Given the description of an element on the screen output the (x, y) to click on. 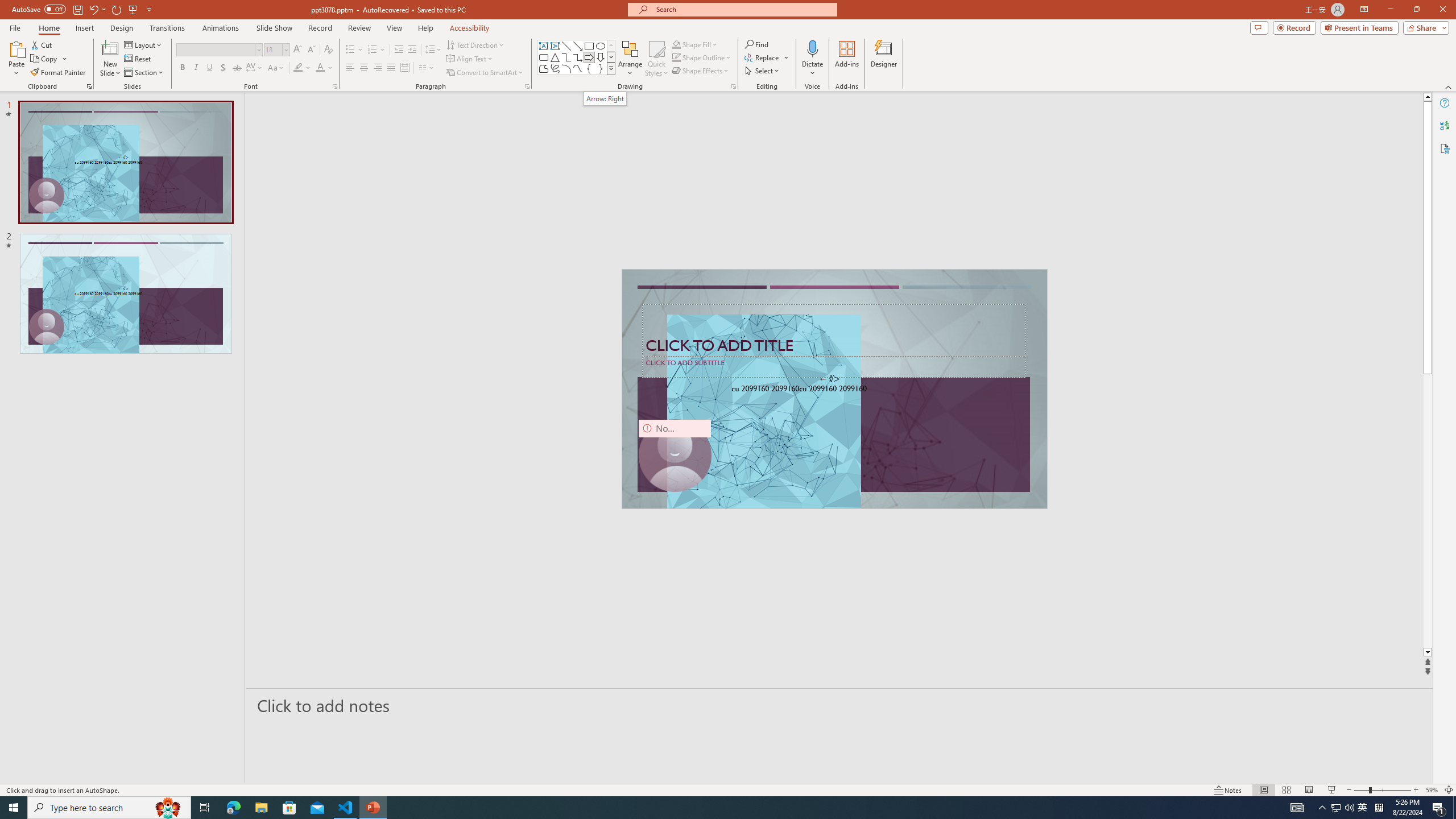
TextBox 7 (829, 378)
Office Clipboard... (88, 85)
Title TextBox (834, 330)
Bold (182, 67)
